Given the description of an element on the screen output the (x, y) to click on. 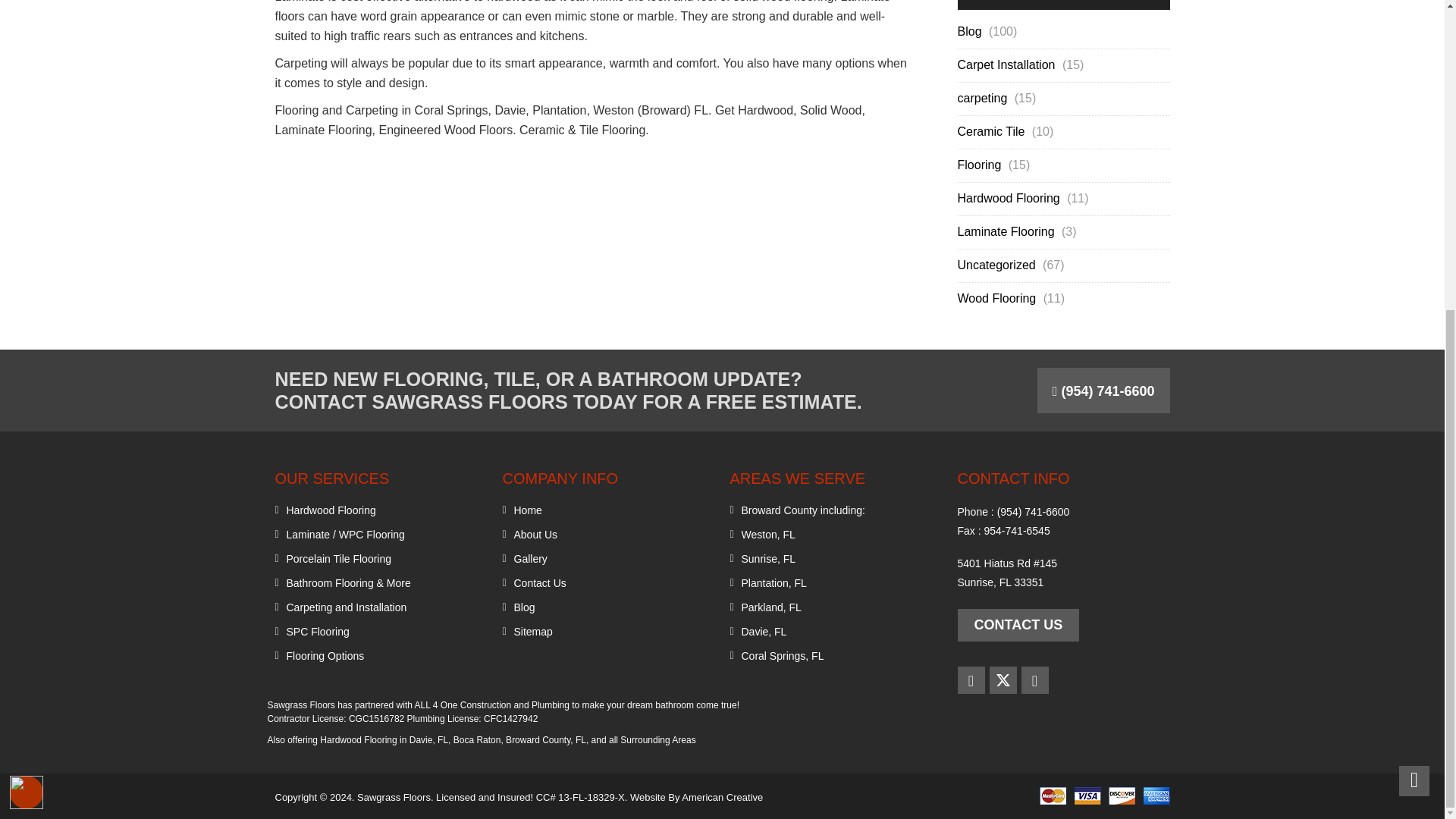
Facebook (970, 679)
Accessibility Menu (26, 299)
Blog (970, 31)
Uncategorized (997, 265)
Wood Flooring (997, 298)
Laminate Flooring (1007, 231)
Flooring Options (325, 655)
Home (527, 509)
Flooring (980, 165)
SPC Flooring (317, 631)
Hardwood Flooring (1009, 198)
Porcelain Tile Flooring (338, 558)
Houzz (1034, 679)
Hardwood Flooring (330, 509)
About Us (535, 534)
